Given the description of an element on the screen output the (x, y) to click on. 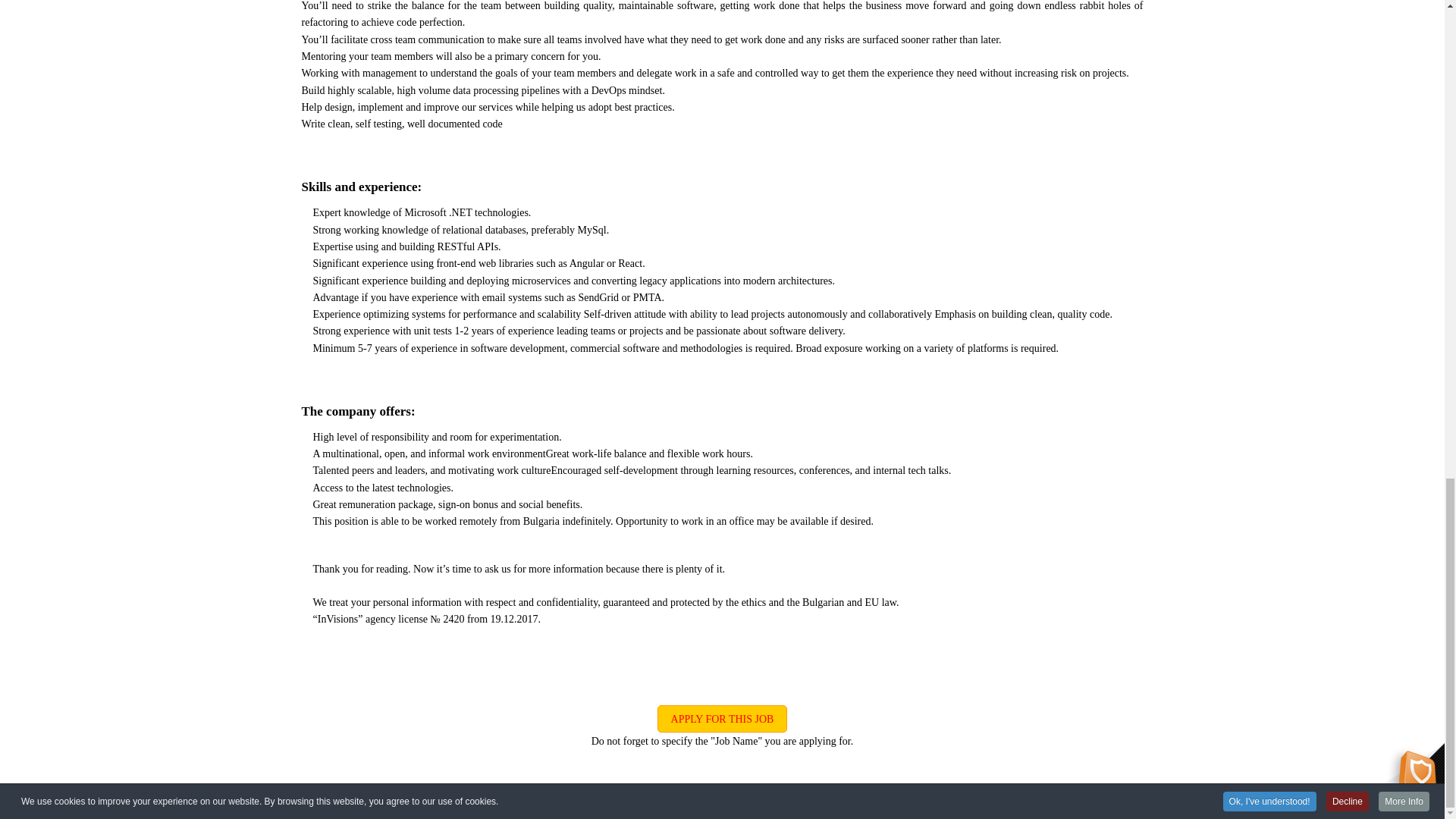
APPLY FOR THIS JOB (722, 718)
